Given the description of an element on the screen output the (x, y) to click on. 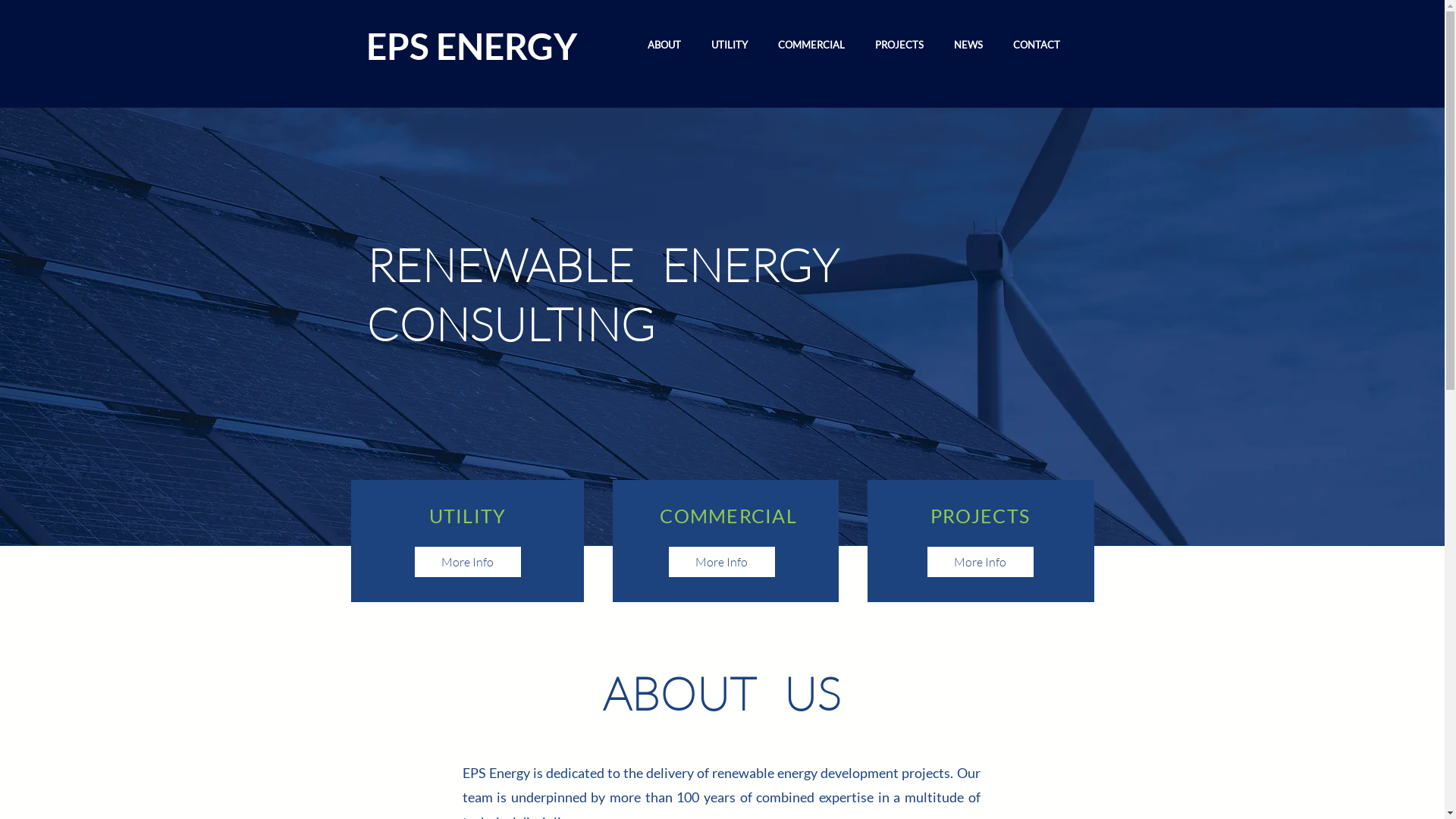
CONTACT Element type: text (1036, 44)
ABOUT Element type: text (664, 44)
UTILITY Element type: text (729, 44)
EPS ENERGY Element type: text (470, 45)
More Info Element type: text (467, 561)
More Info Element type: text (721, 561)
PROJECTS Element type: text (898, 44)
More Info Element type: text (979, 561)
NEWS Element type: text (967, 44)
COMMERCIAL Element type: text (810, 44)
